Given the description of an element on the screen output the (x, y) to click on. 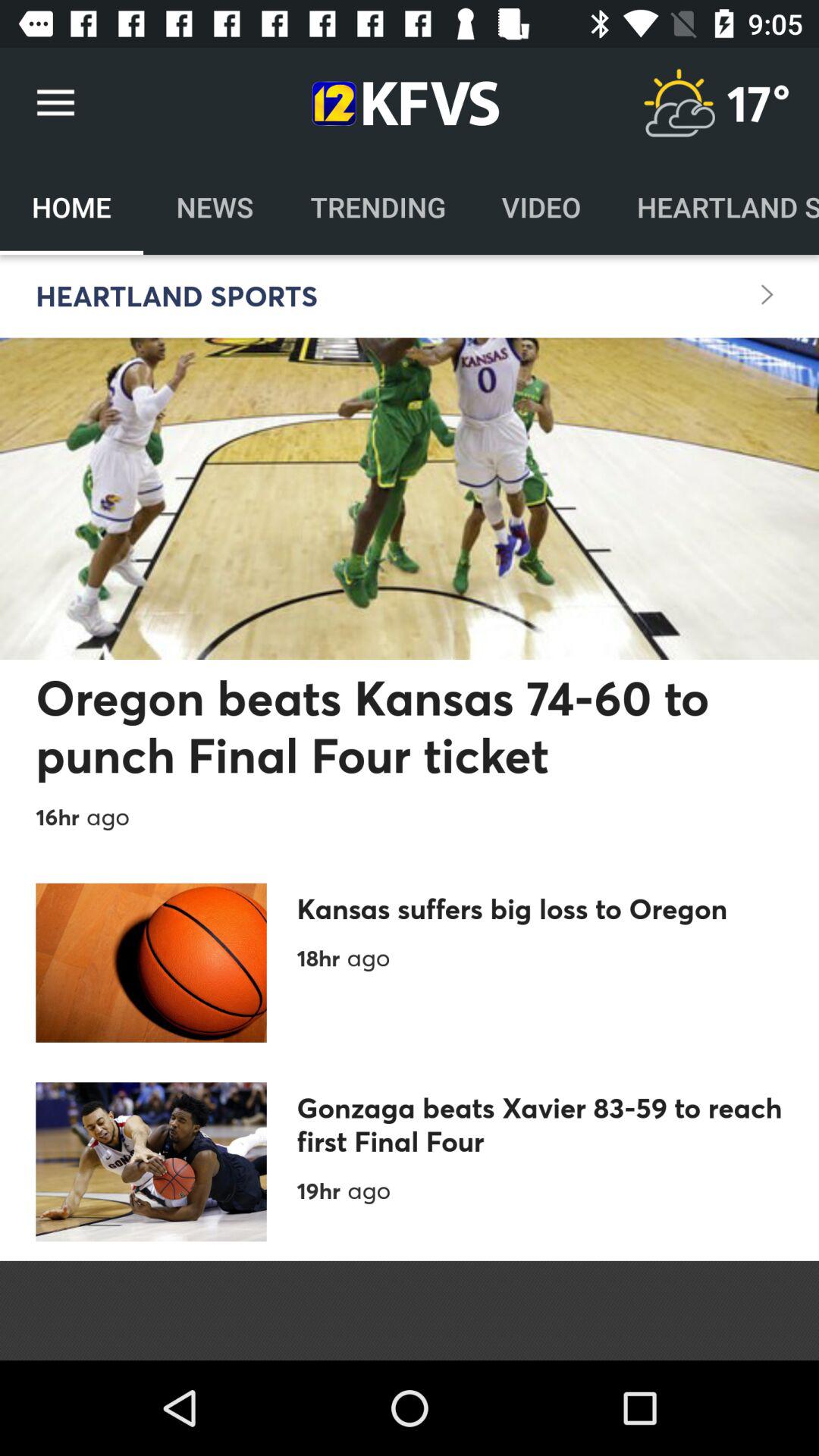
weather option (678, 103)
